Given the description of an element on the screen output the (x, y) to click on. 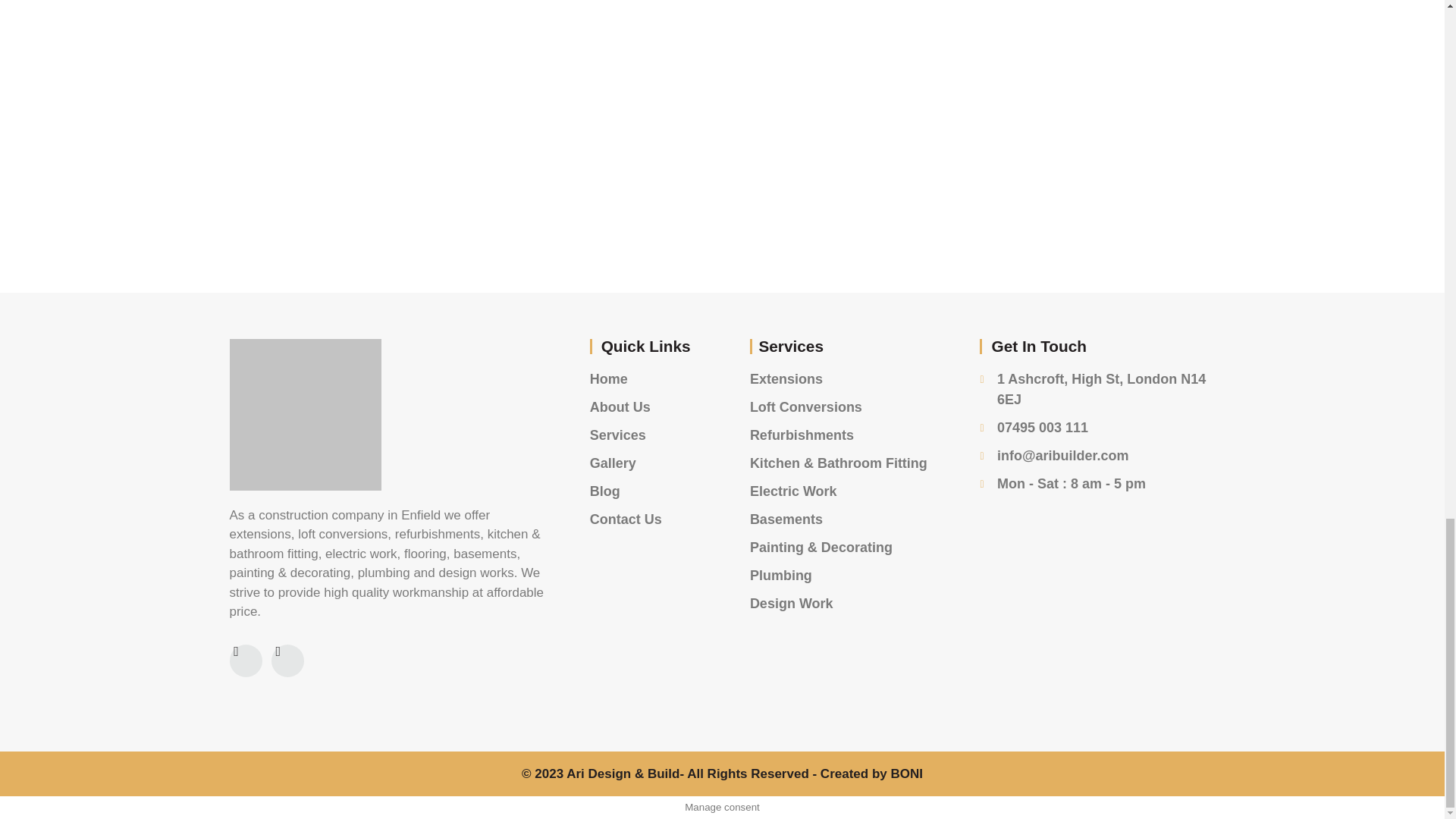
Services (646, 435)
About Us (646, 407)
Home (646, 379)
